Given the description of an element on the screen output the (x, y) to click on. 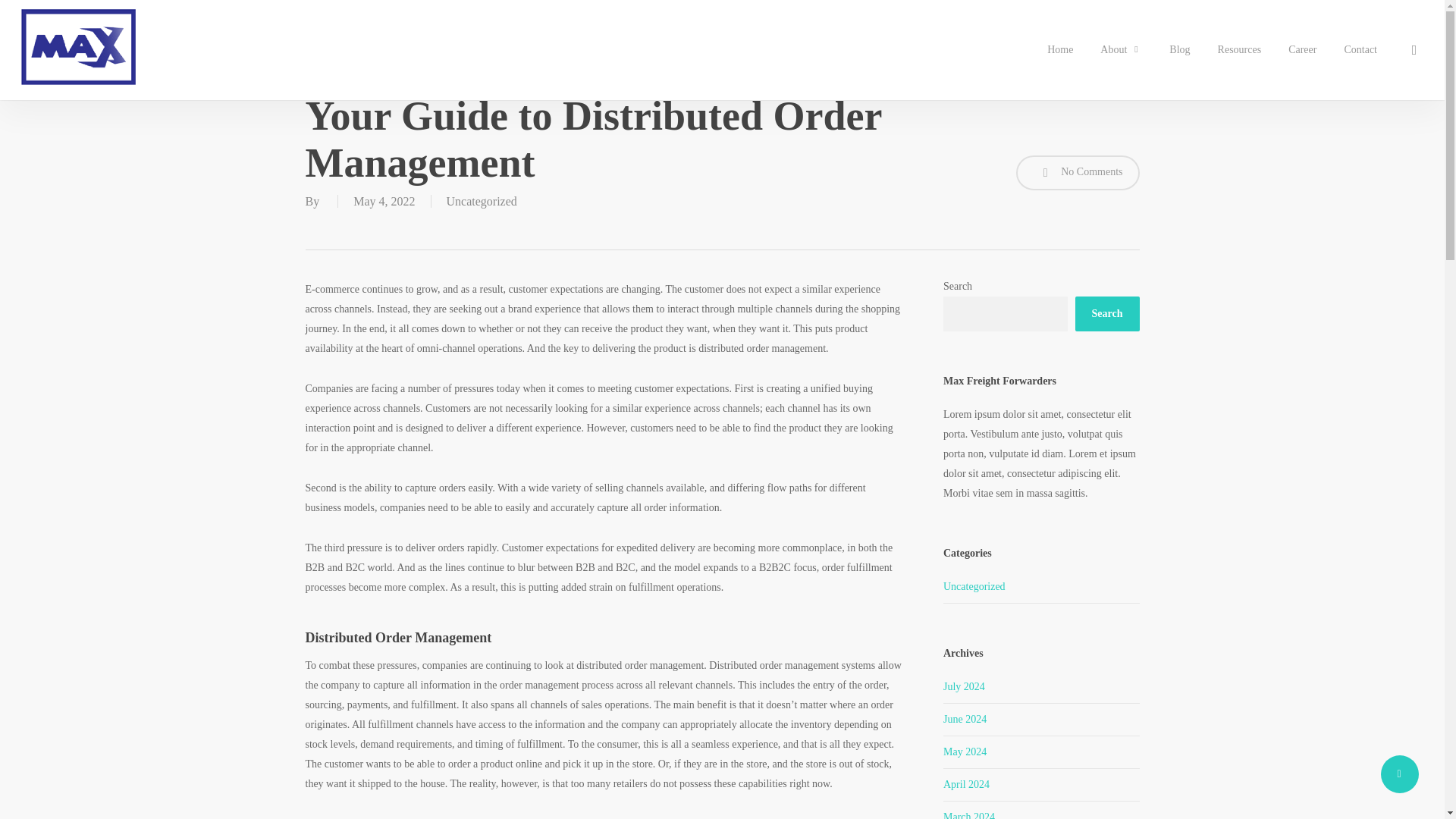
Search (1107, 313)
search (1414, 49)
Uncategorized (480, 201)
Uncategorized (1041, 590)
No Comments (1078, 172)
March 2024 (968, 815)
About (1120, 49)
Contact (1360, 49)
Home (1059, 49)
July 2024 (964, 686)
Career (1302, 49)
Blog (1179, 49)
Resources (1239, 49)
June 2024 (965, 718)
May 2024 (965, 751)
